Given the description of an element on the screen output the (x, y) to click on. 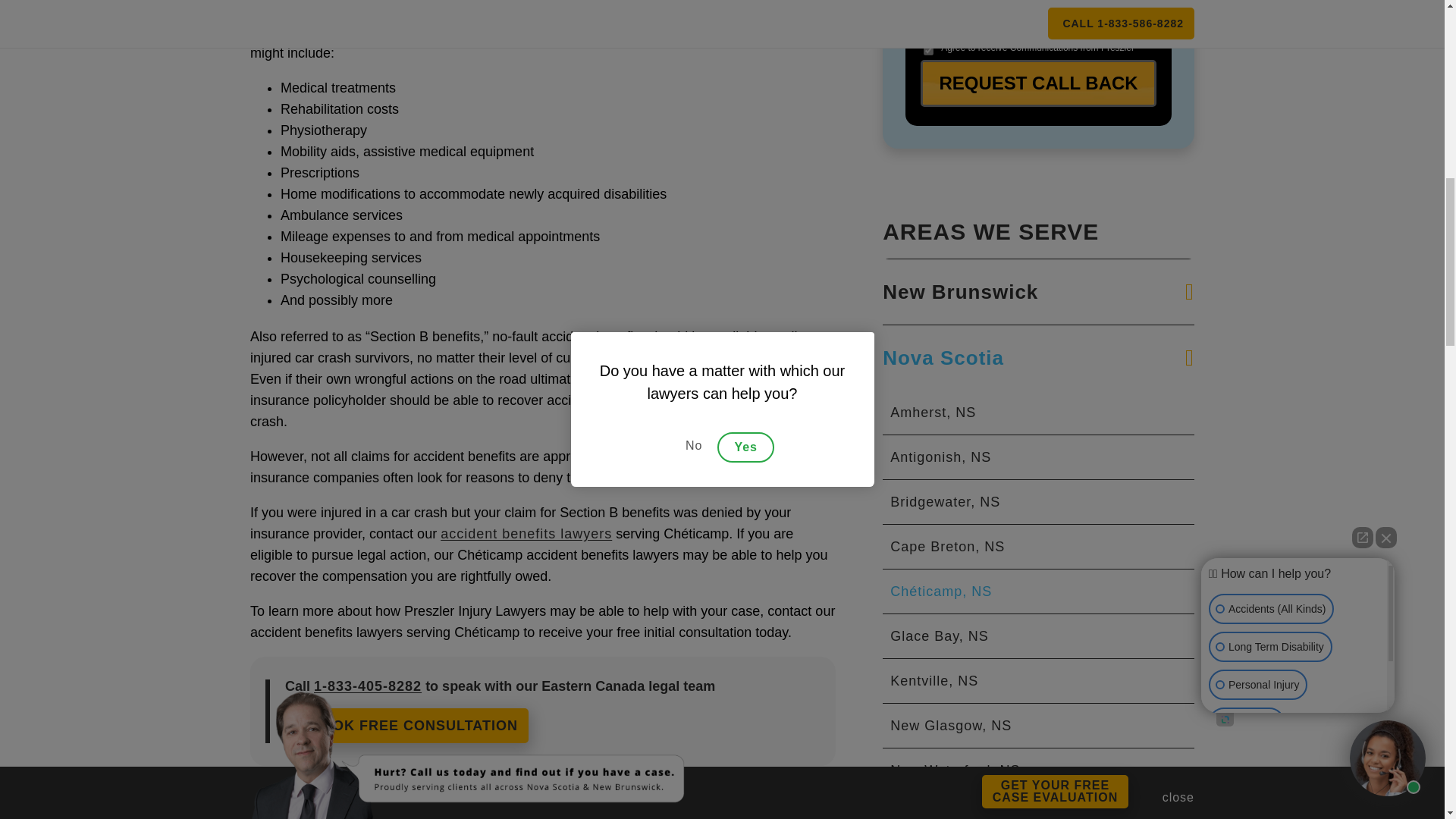
1 (928, 50)
